Given the description of an element on the screen output the (x, y) to click on. 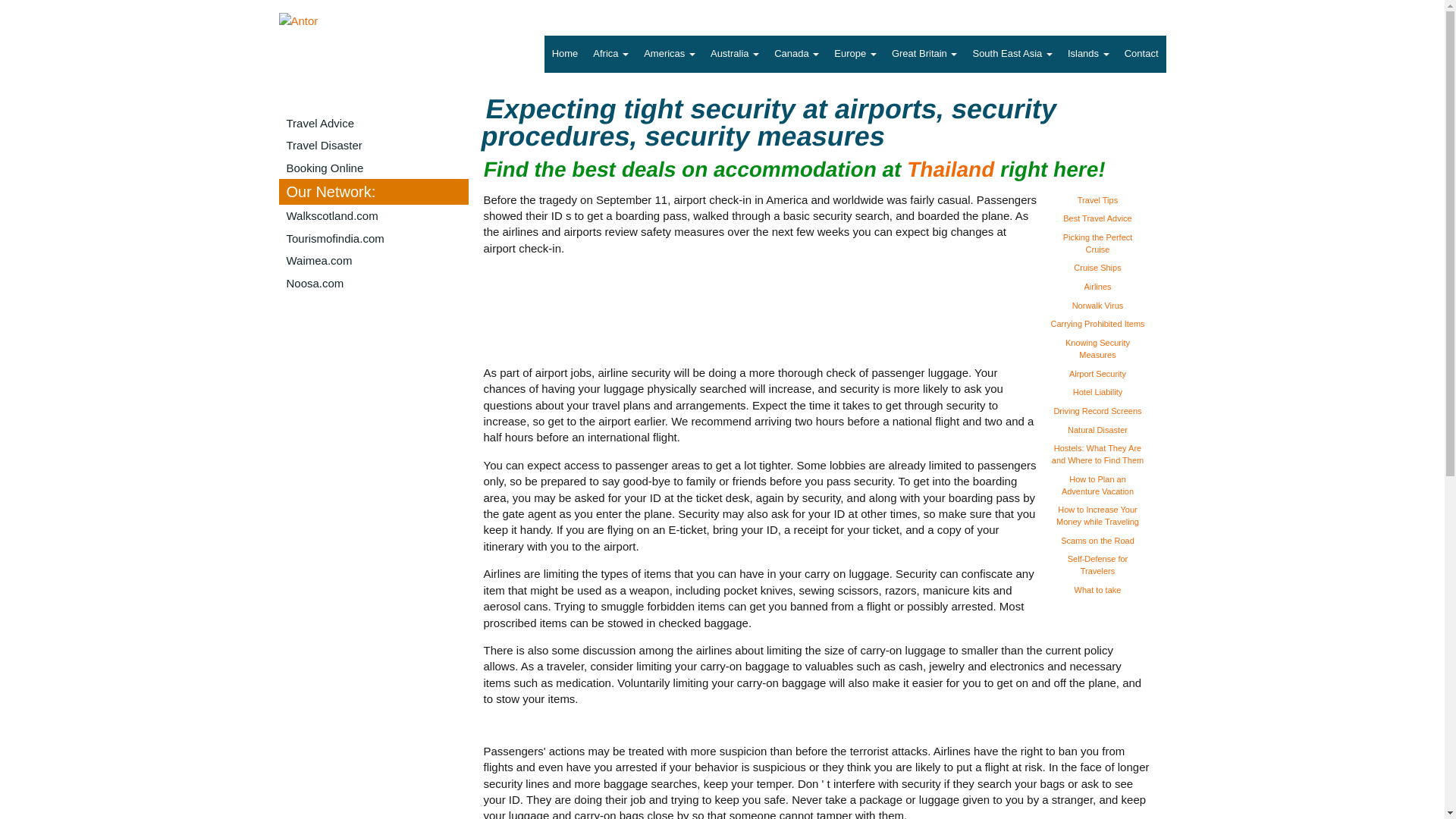
Americas (669, 54)
Home (565, 54)
Canada (797, 54)
Africa (610, 54)
Australia (735, 54)
Europe (855, 54)
